Given the description of an element on the screen output the (x, y) to click on. 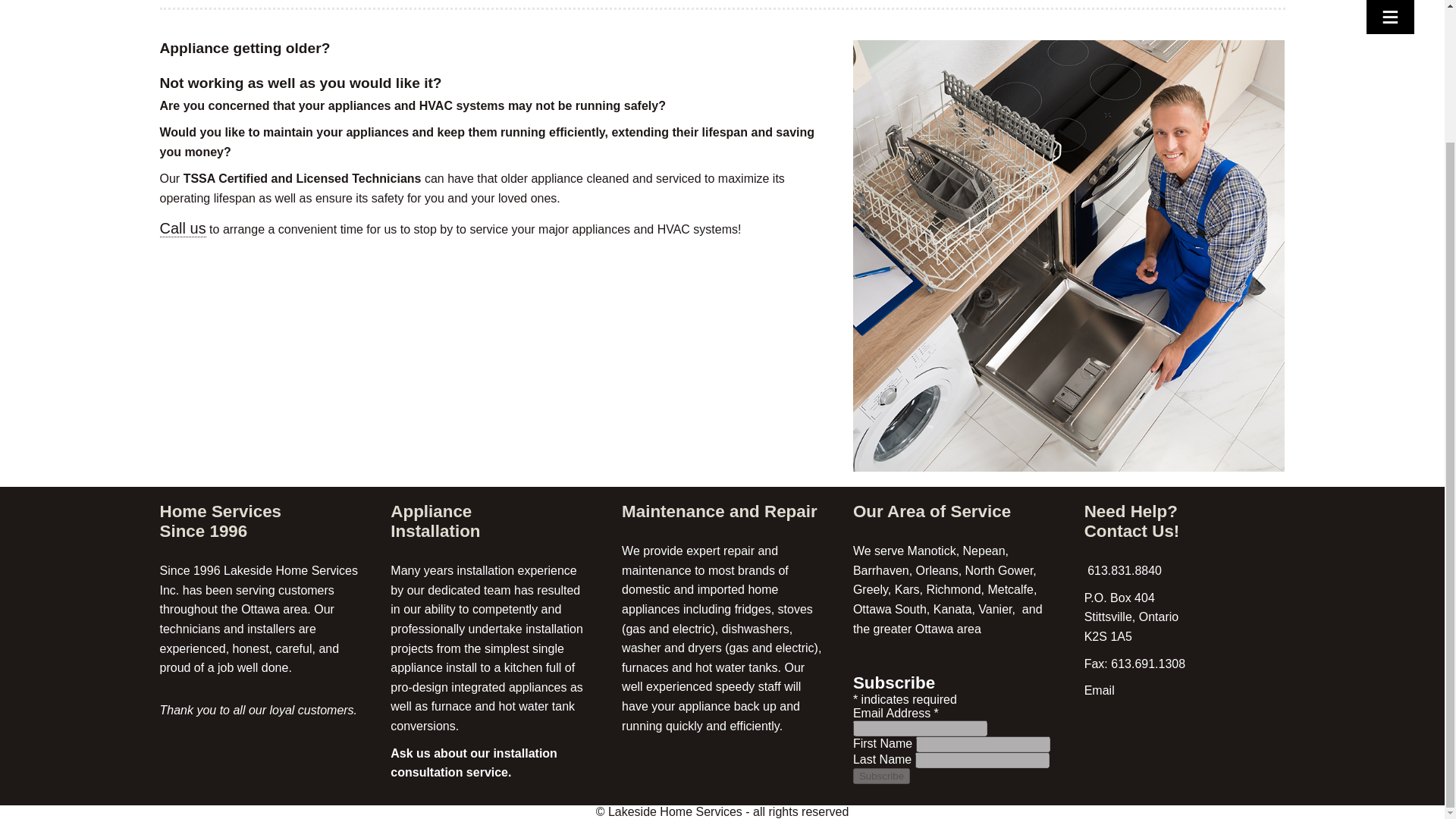
Call us (181, 228)
Subscribe (881, 775)
Subscribe (881, 775)
Email (1099, 689)
 613.831.8840 (1122, 570)
